Given the description of an element on the screen output the (x, y) to click on. 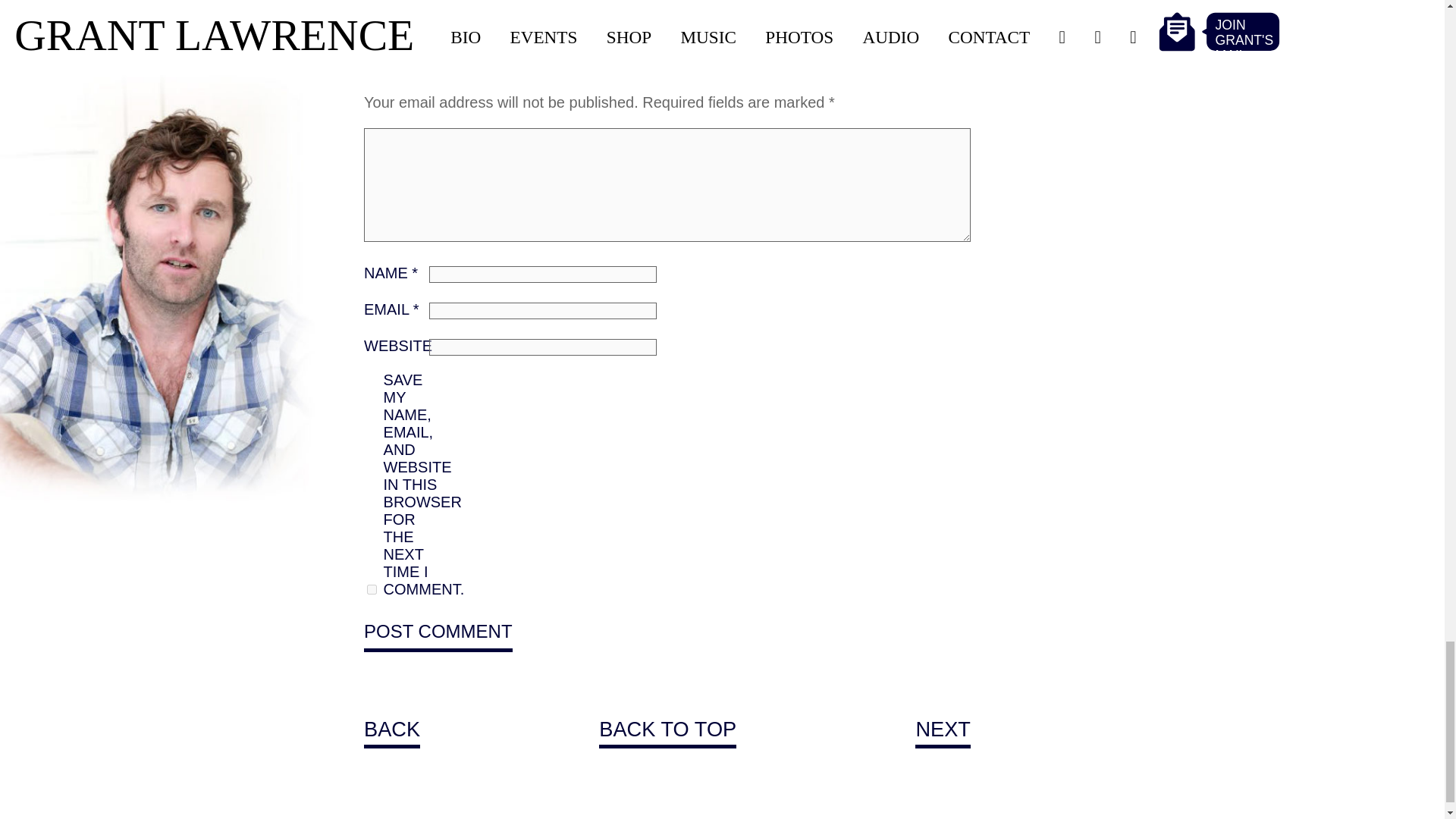
BACK (392, 732)
yes (371, 589)
Post Comment (438, 633)
Post Comment (438, 633)
NEXT (943, 732)
BACK TO TOP (667, 732)
